Given the description of an element on the screen output the (x, y) to click on. 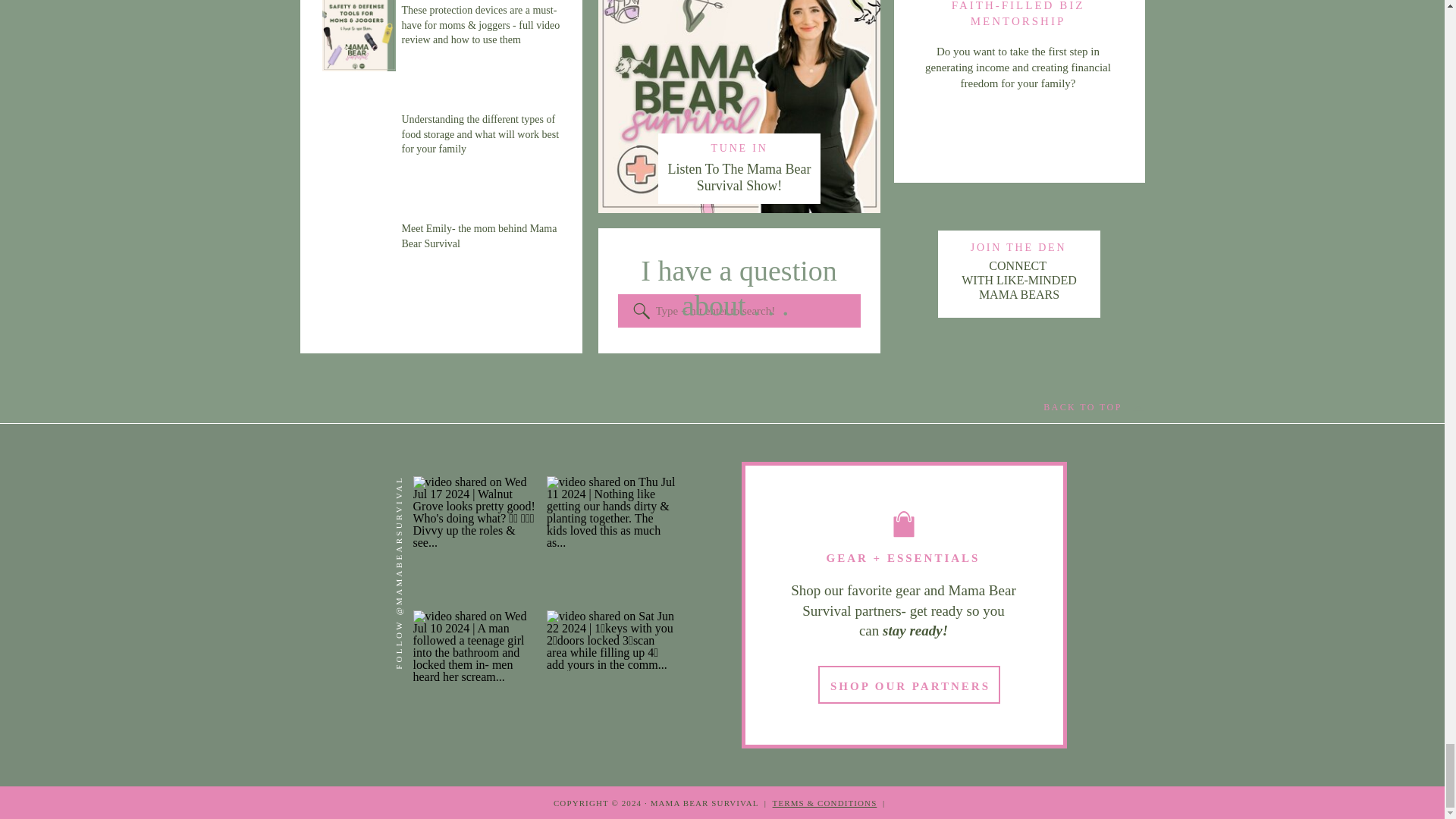
Meet Emily- the mom behind Mama Bear Survival  (481, 252)
JOIN THE DEN (1017, 246)
TELL ME MORE (1018, 132)
BACK TO TOP (1018, 274)
Listen To The Mama Bear Survival Show! (1082, 408)
